Given the description of an element on the screen output the (x, y) to click on. 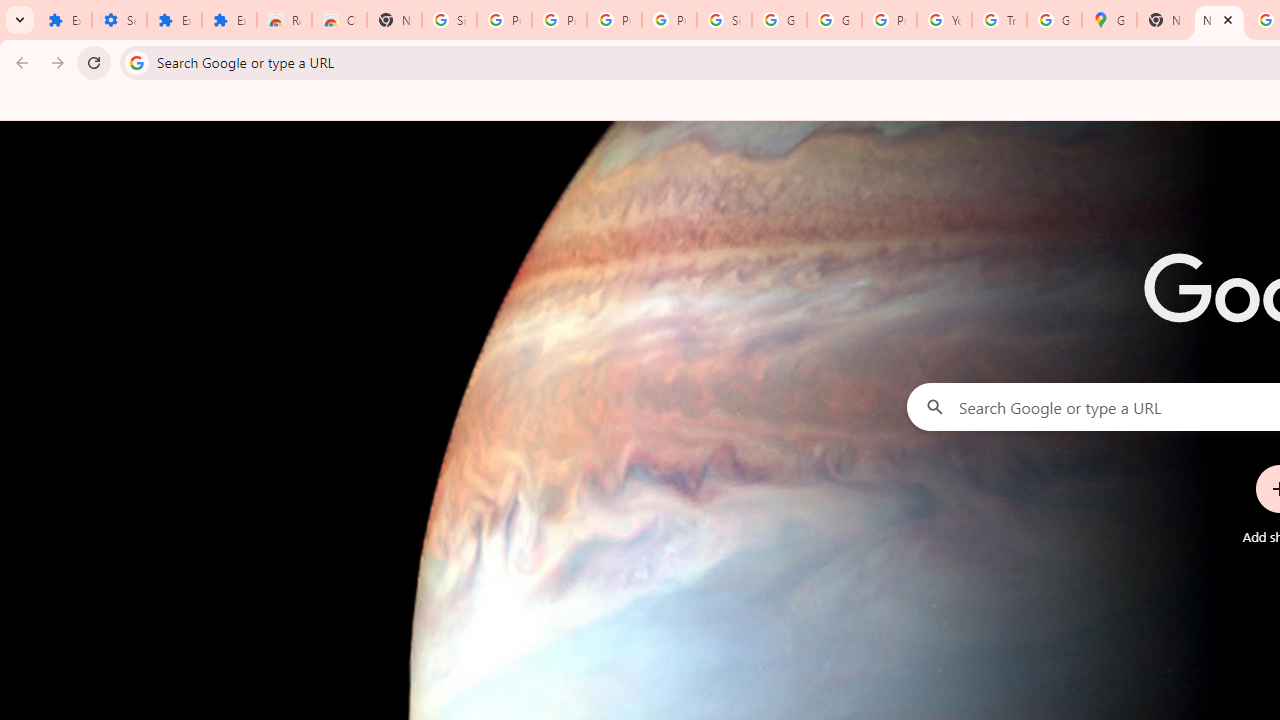
Extensions (64, 20)
New Tab (1218, 20)
Google Maps (1108, 20)
Chrome Web Store - Themes (339, 20)
Sign in - Google Accounts (724, 20)
